Given the description of an element on the screen output the (x, y) to click on. 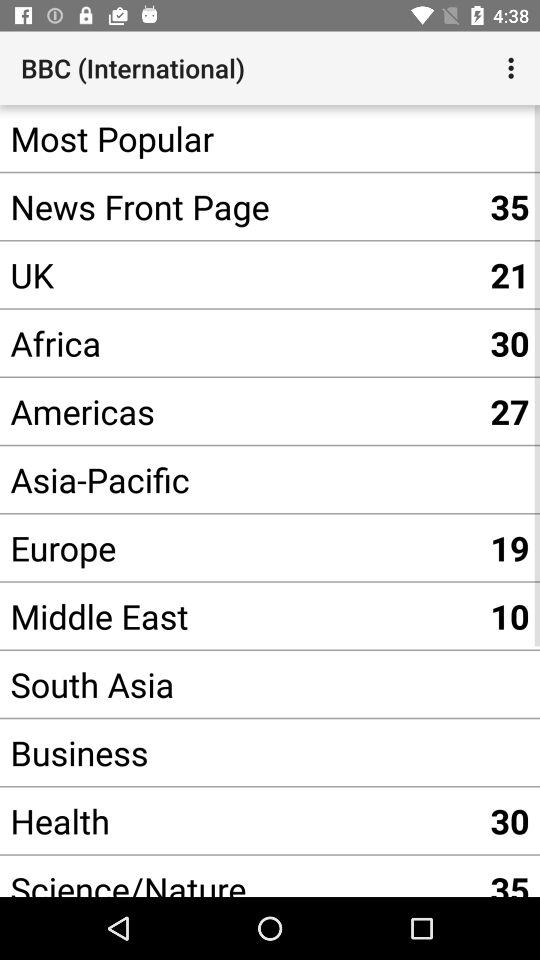
turn on the app to the left of the 27 item (240, 479)
